Given the description of an element on the screen output the (x, y) to click on. 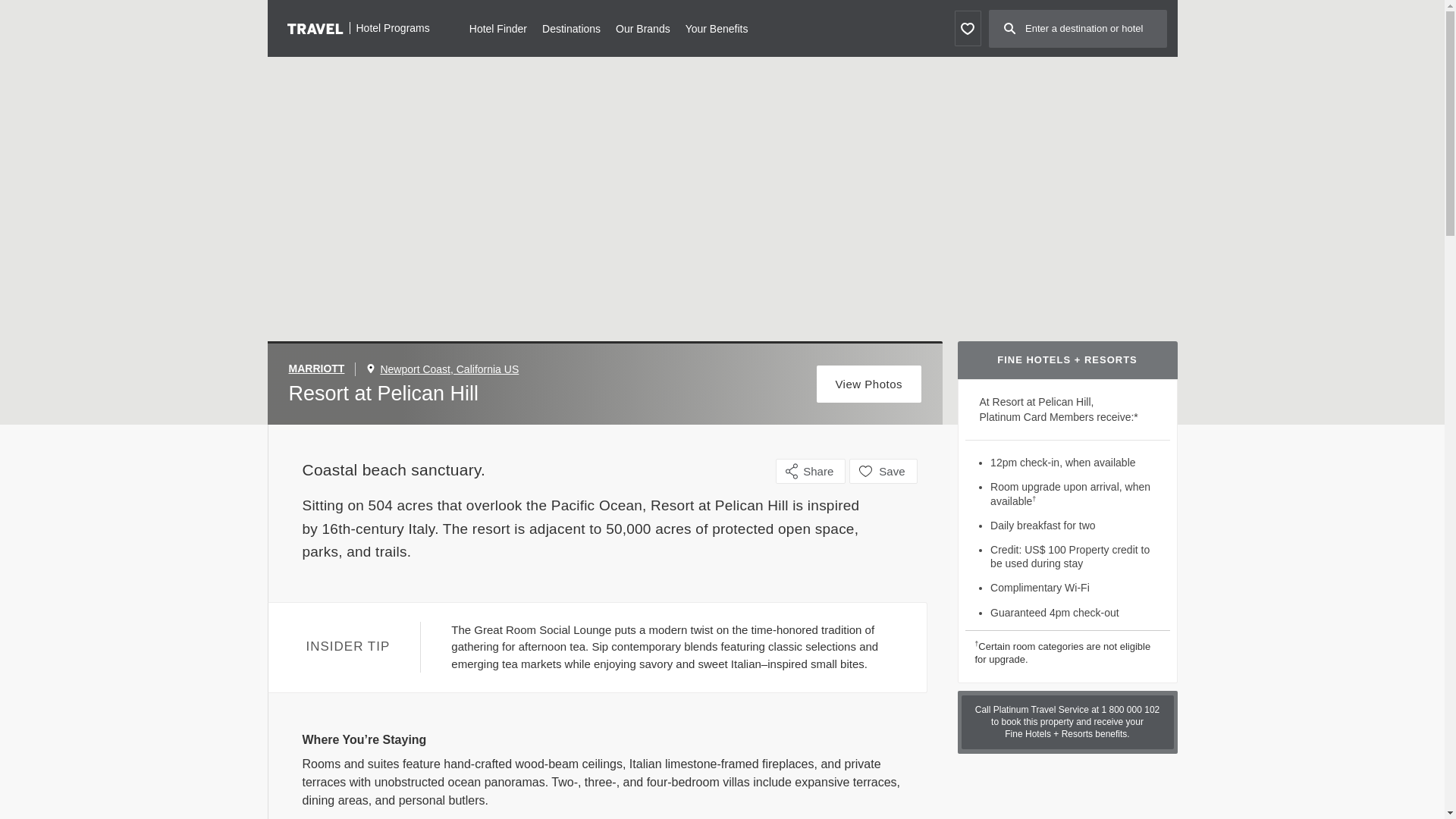
Share (810, 471)
Save (882, 471)
View Photos (868, 383)
Your Benefits (716, 27)
Hotel Finder (497, 27)
Destinations (570, 27)
Our Brands (642, 27)
MARRIOTT (321, 368)
Newport Coast, California US (449, 369)
Hotel Programs (357, 27)
